Given the description of an element on the screen output the (x, y) to click on. 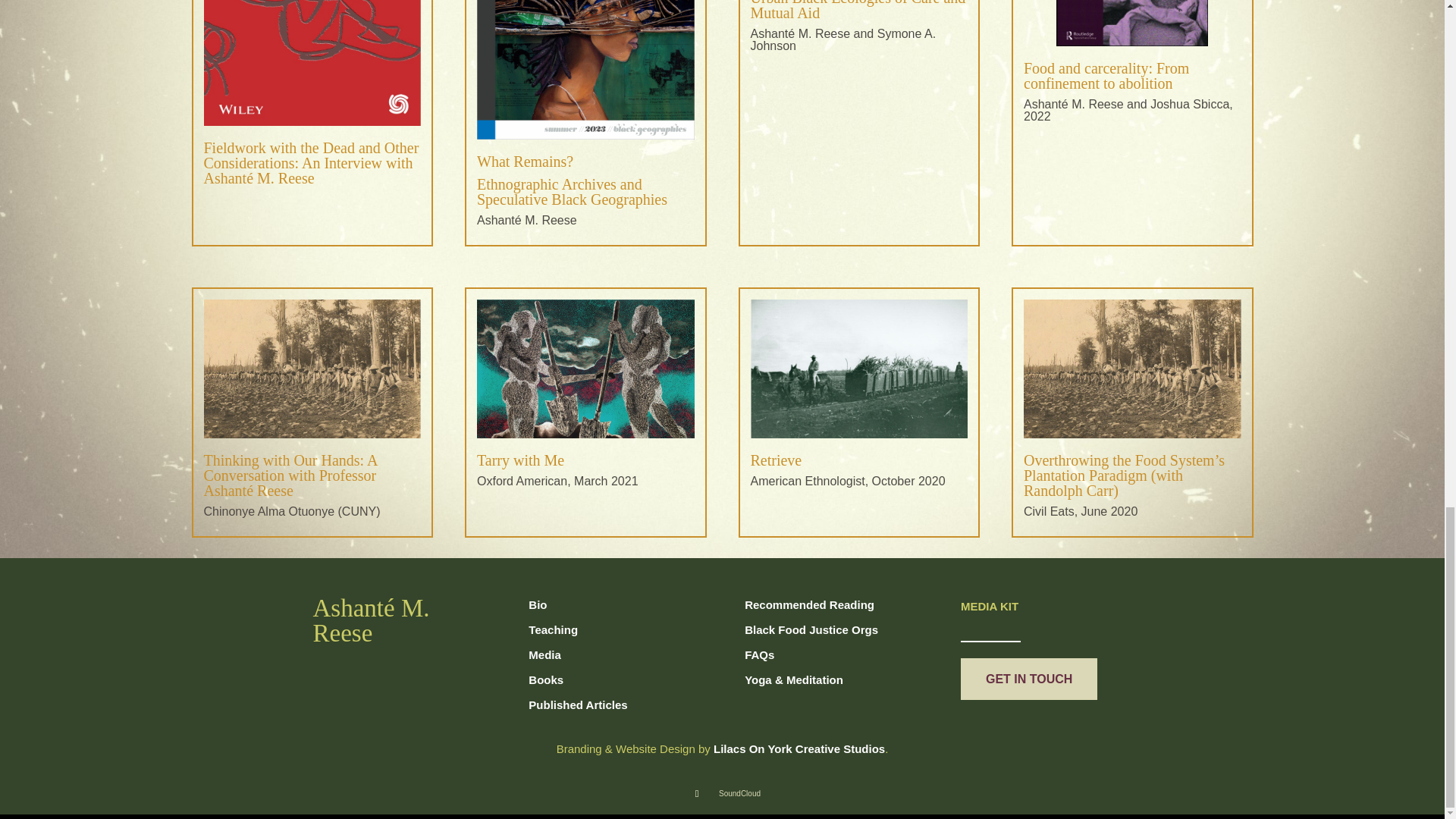
COVER TEMPLATE WEB (585, 69)
Follow on X (701, 793)
Recommended Reading (809, 604)
Media (544, 654)
Screen Shot 2021-10-13 at 3.21 3-min (311, 368)
MAQ Cover - Fieldwork with the Dead (311, 63)
Books (545, 679)
Screen Shot 2021-10-13 at 3.21 3-min (1132, 368)
Teaching (553, 629)
Black Food Justice Orgs  (812, 629)
Urban Black Ecologies of Care and Mutual Aid (858, 10)
Screen Shot 2021-10-13 at 3.21 1-min (585, 368)
Food and Foodways cover - Food and Carcerality (1132, 22)
Bio  (539, 604)
Screen Shot 2021-10-13 at 3.21 2-min (859, 368)
